Given the description of an element on the screen output the (x, y) to click on. 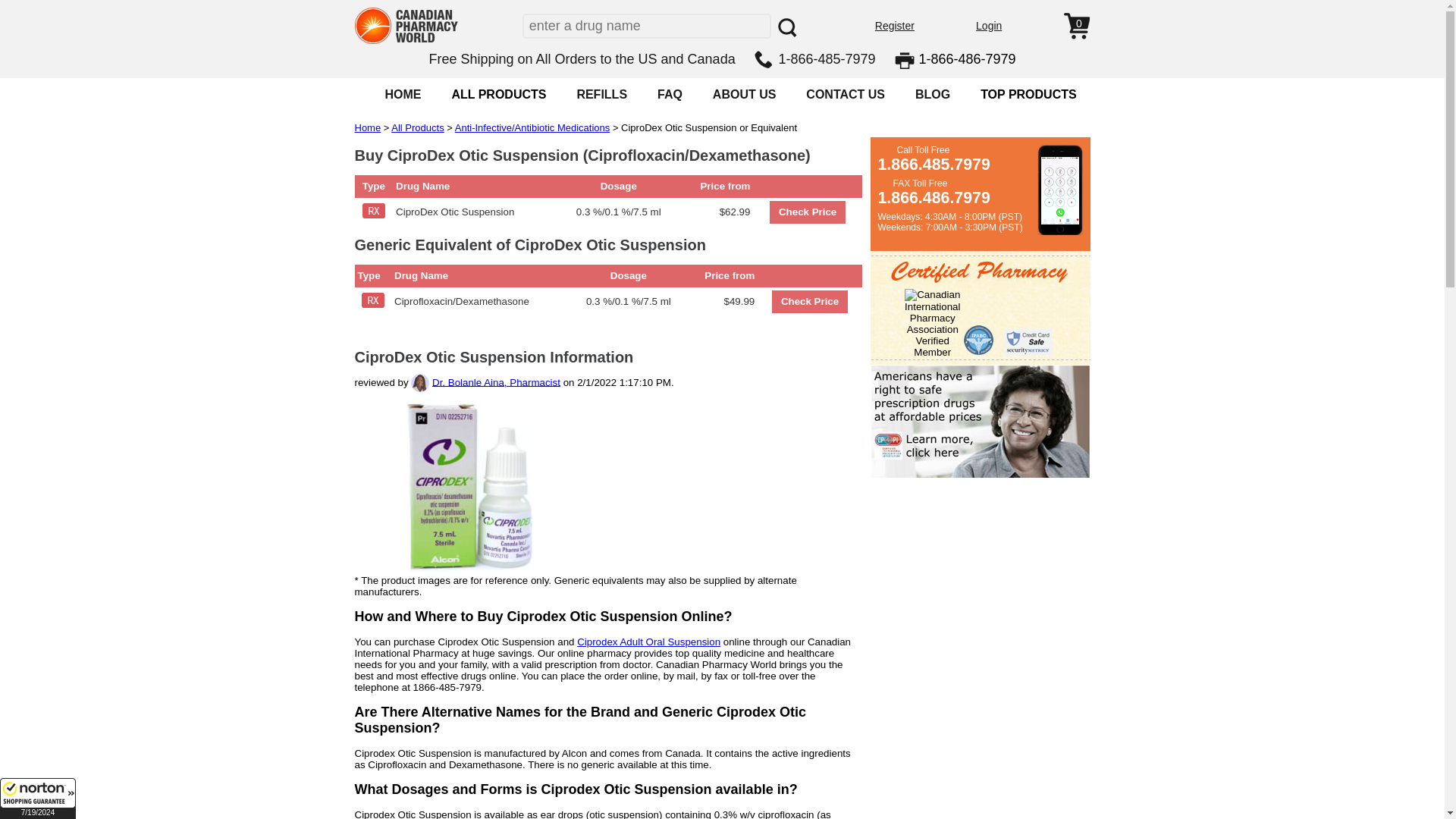
Refill Your Prescription (601, 93)
Unused iFrame 1 (37, 798)
Register (894, 25)
Check Price (809, 301)
Home (402, 93)
Free Shipping on All Orders to the US and Canada (581, 58)
1-866-485-7979 (826, 58)
Canadian Pharmacy World (406, 41)
Check Price (807, 211)
Contact Us (845, 93)
About Us (744, 93)
HOME (402, 93)
FAQ (670, 93)
Blog (932, 93)
